Given the description of an element on the screen output the (x, y) to click on. 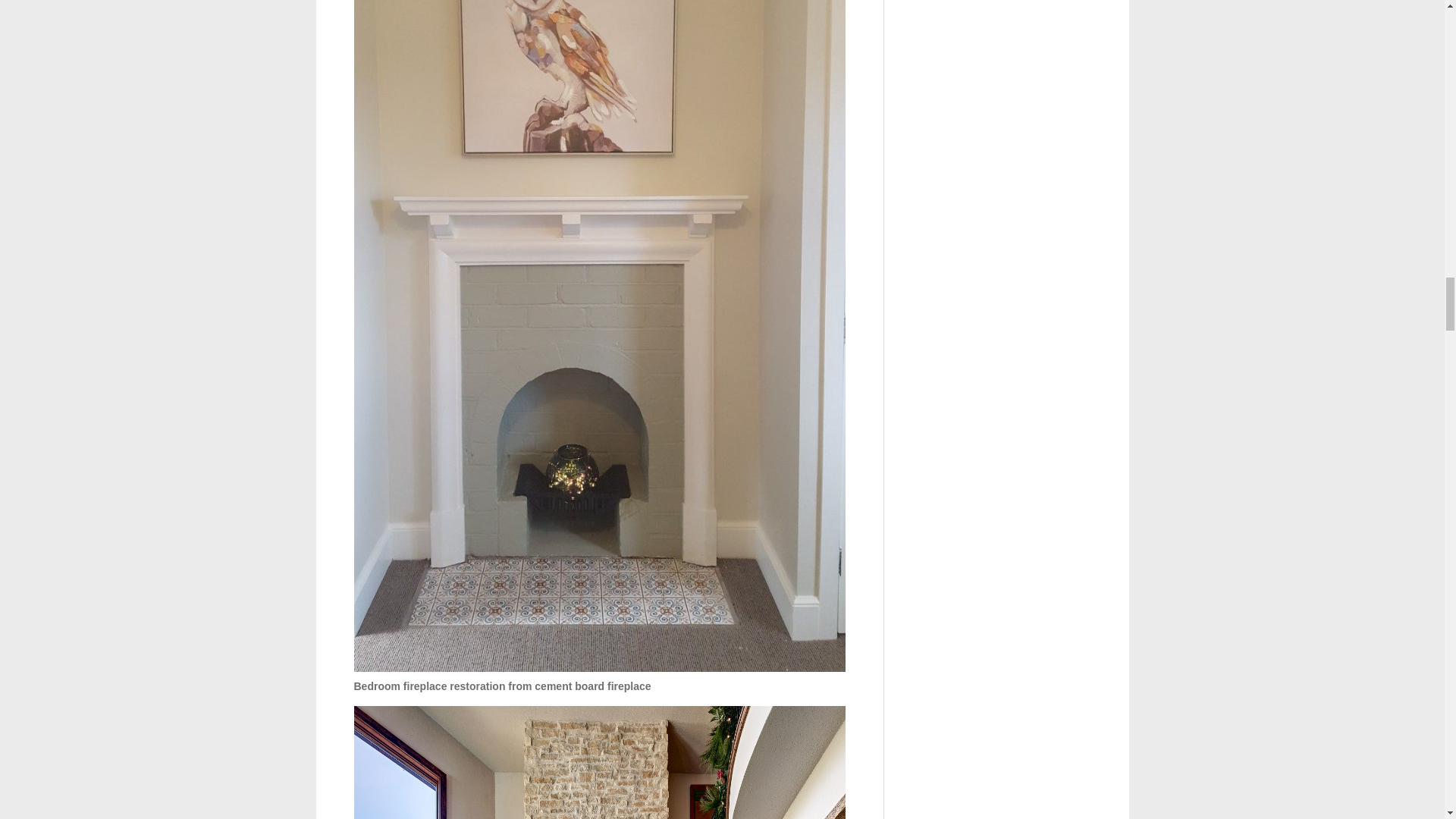
Indoor Project Idea for your Fireplace Profile Canyon (598, 762)
